Given the description of an element on the screen output the (x, y) to click on. 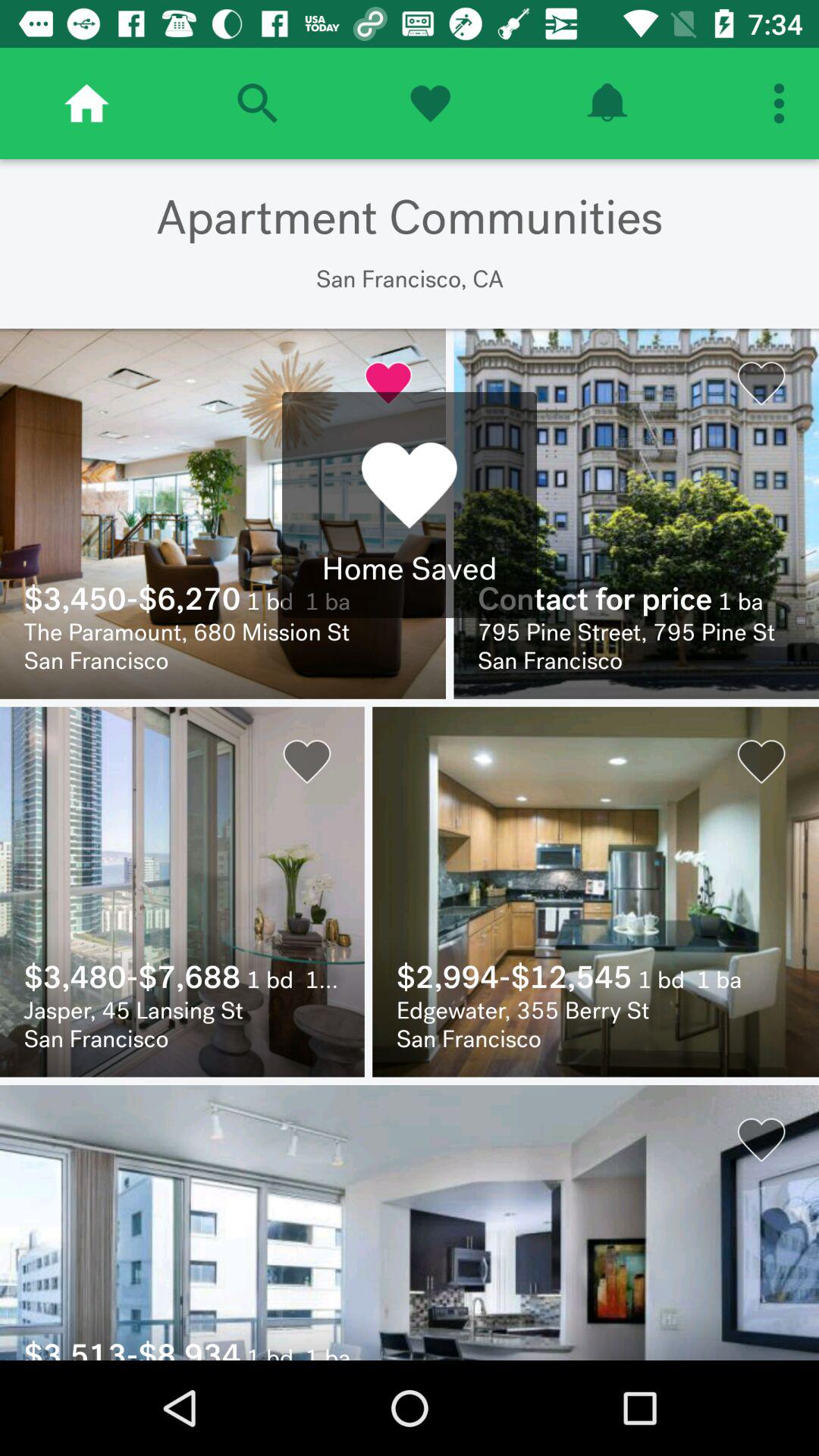
go to the home page (86, 103)
